Given the description of an element on the screen output the (x, y) to click on. 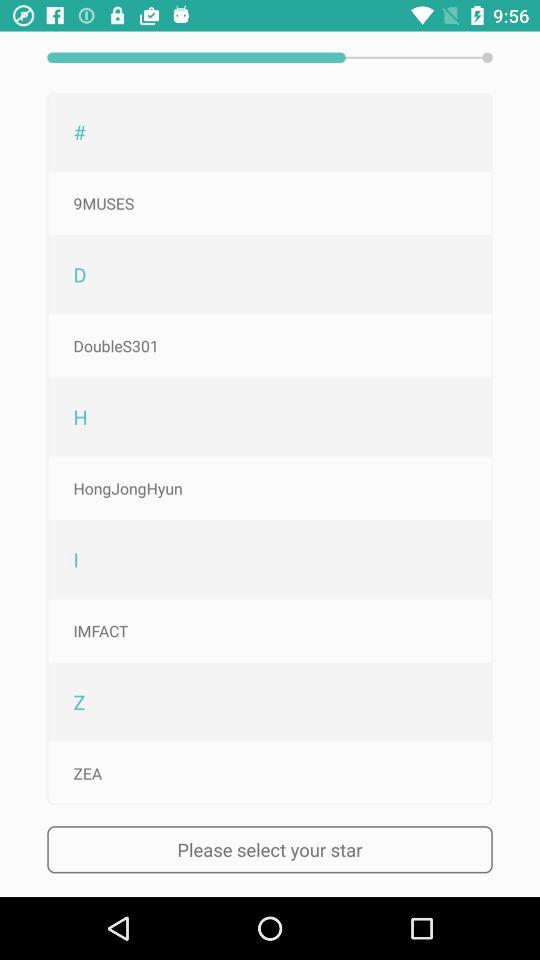
jump until please select your item (269, 849)
